Given the description of an element on the screen output the (x, y) to click on. 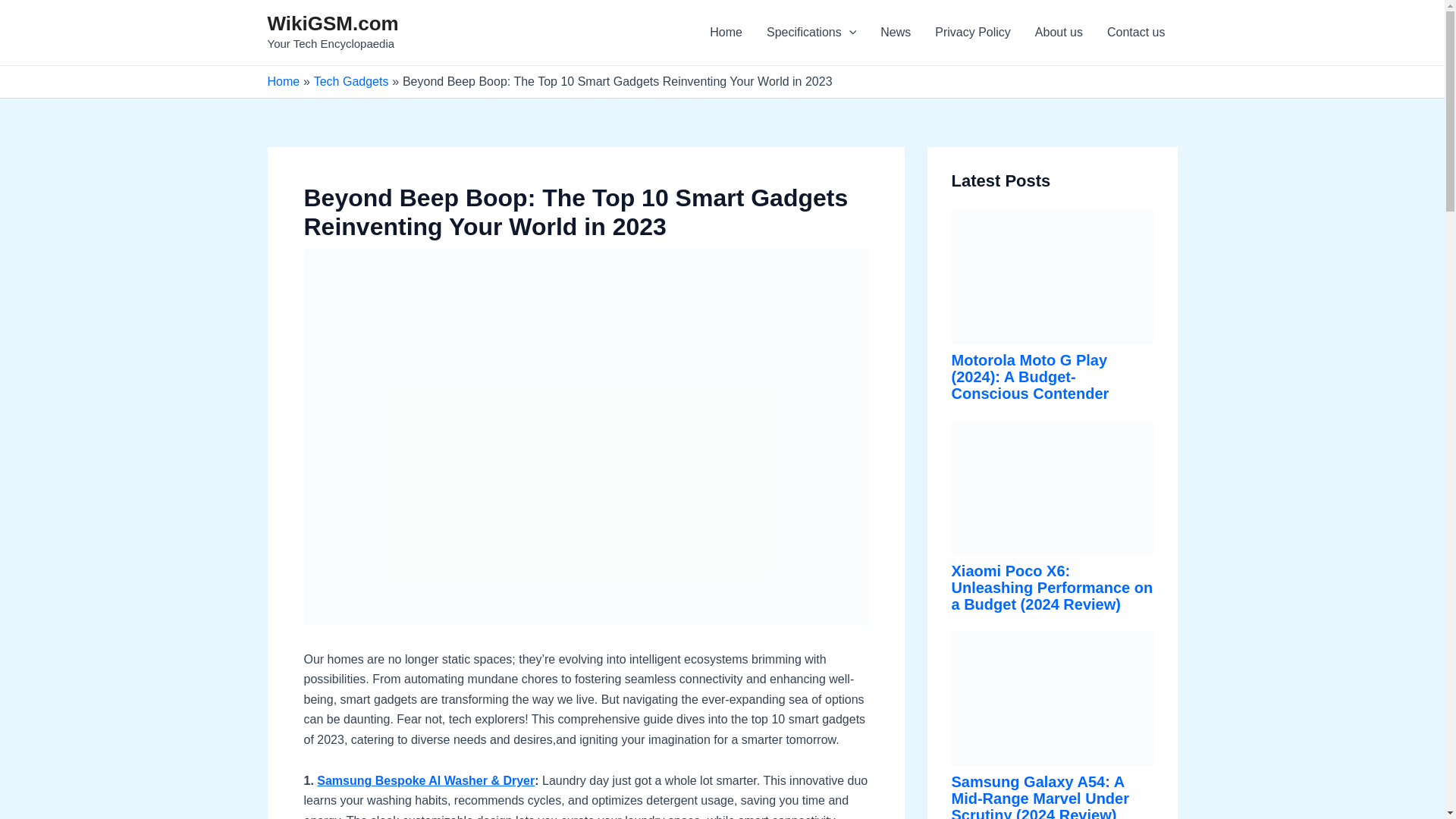
Tech Gadgets (351, 81)
Privacy Policy (973, 32)
Home (282, 81)
Specifications (810, 32)
About us (1058, 32)
News (895, 32)
WikiGSM.com (331, 23)
Home (725, 32)
Contact us (1135, 32)
